Given the description of an element on the screen output the (x, y) to click on. 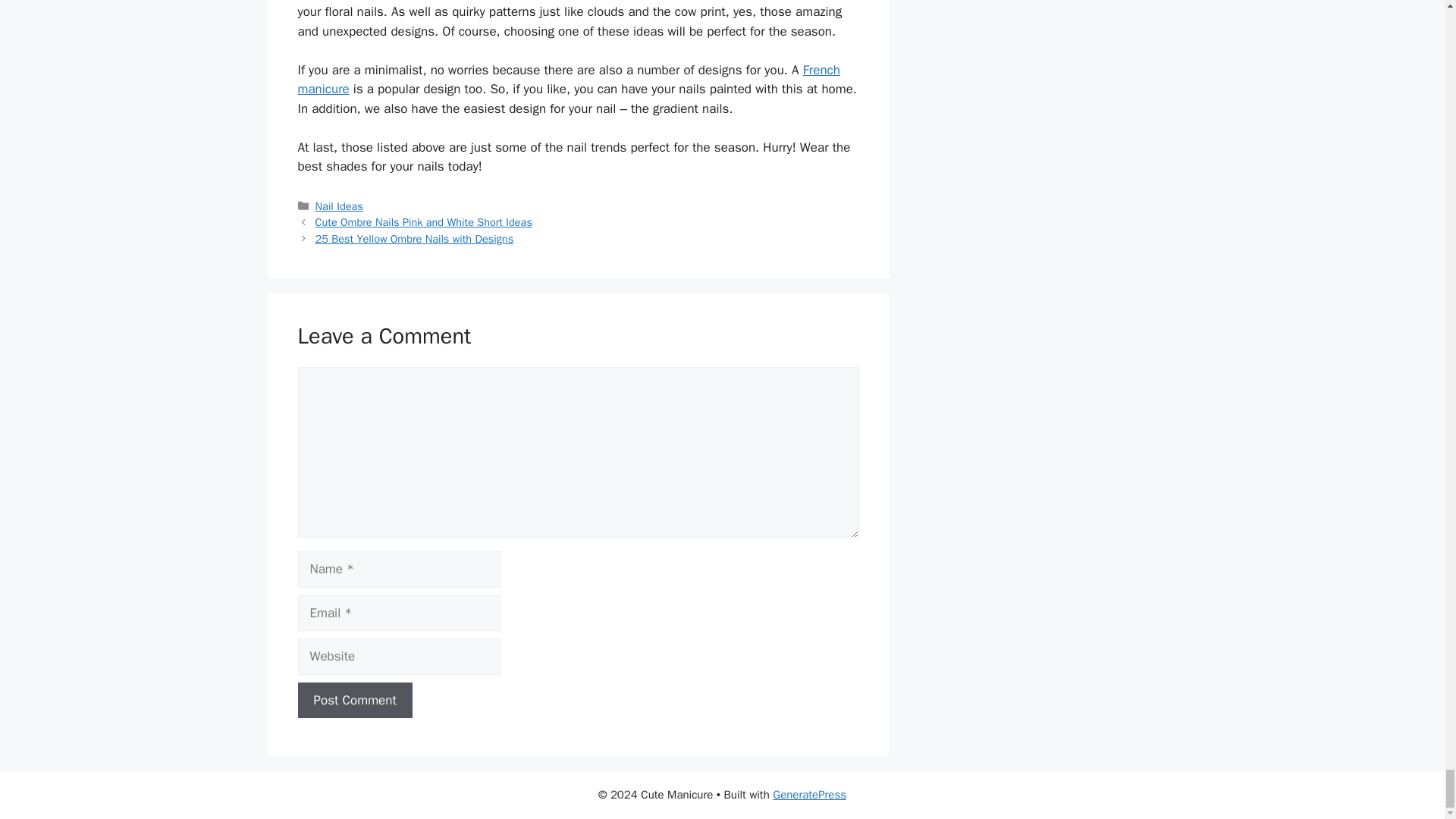
Nail Ideas (338, 205)
GeneratePress (809, 794)
Cute Ombre Nails Pink and White Short Ideas (423, 222)
Post Comment (354, 700)
25 Best Yellow Ombre Nails with Designs (414, 238)
French manicure (568, 79)
Post Comment (354, 700)
